Given the description of an element on the screen output the (x, y) to click on. 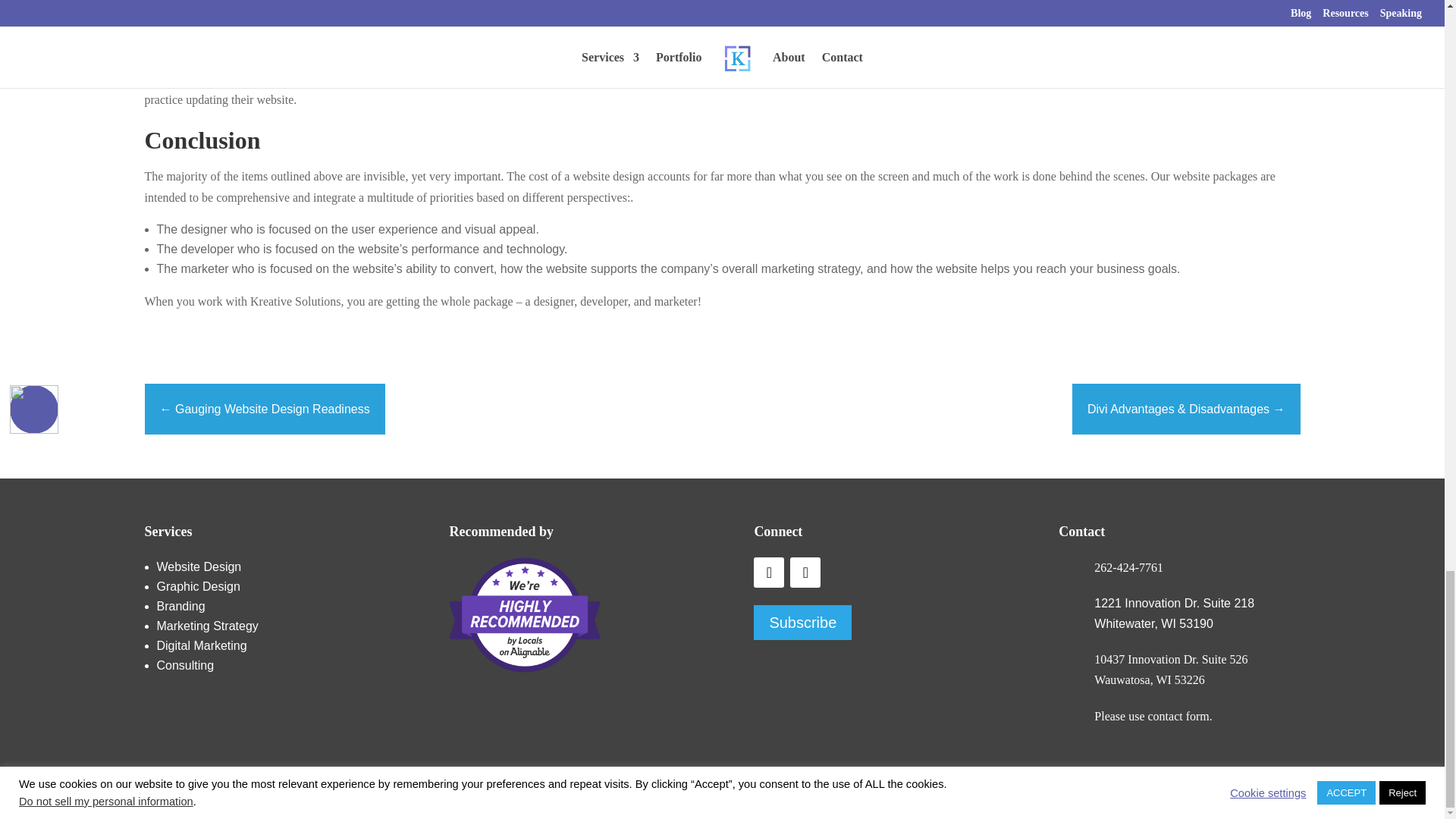
Consulting (184, 665)
Graphic Design (197, 585)
Highly Recommended by Locals On Alignable (523, 614)
Marketing Strategy (206, 625)
Website Design  (199, 566)
Branding (180, 605)
Digital Marketing (200, 645)
Follow on LinkedIn (805, 572)
Follow on Facebook (769, 572)
